Given the description of an element on the screen output the (x, y) to click on. 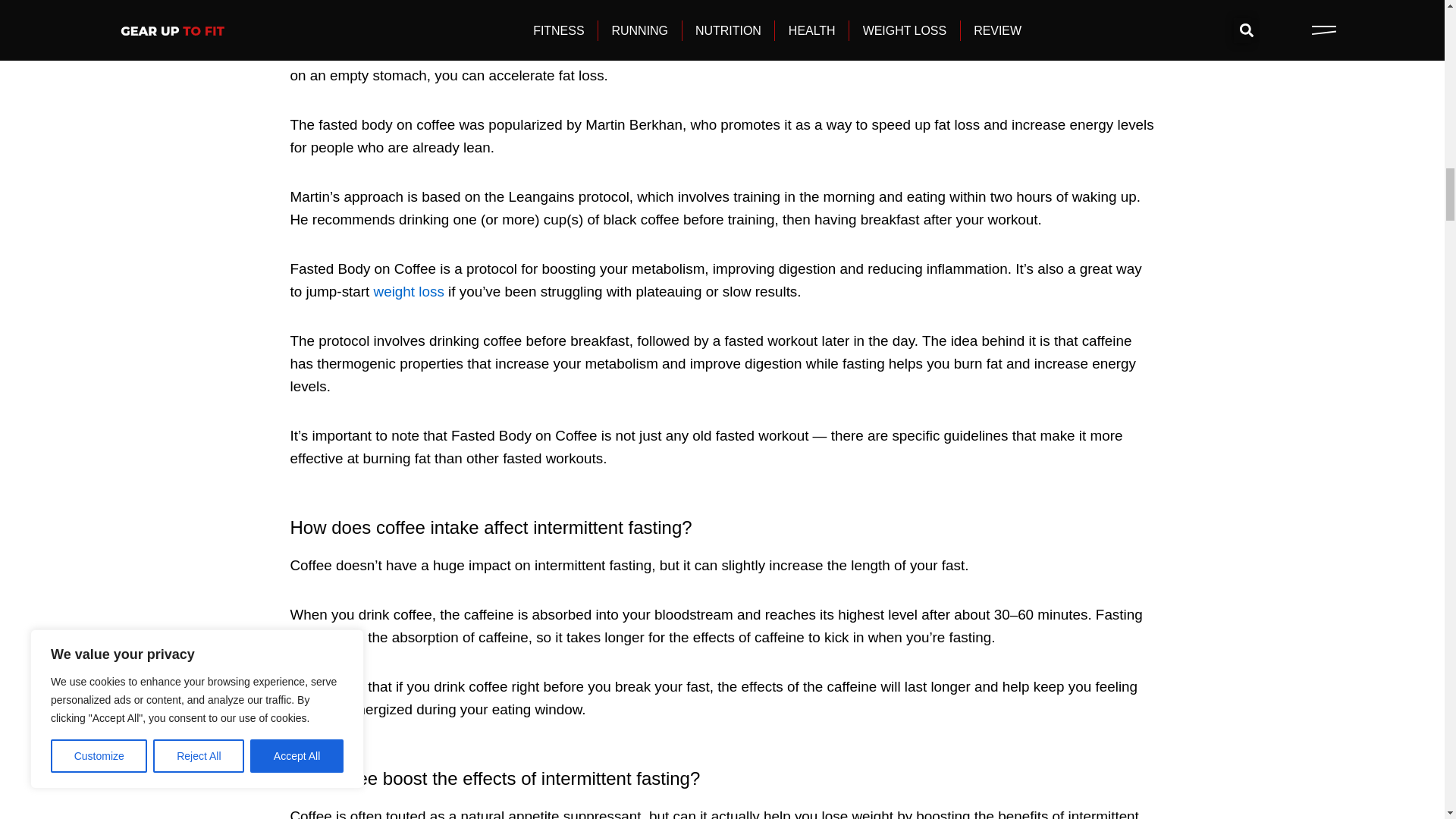
weight loss (693, 52)
weight loss (693, 52)
weight loss (409, 291)
